Given the description of an element on the screen output the (x, y) to click on. 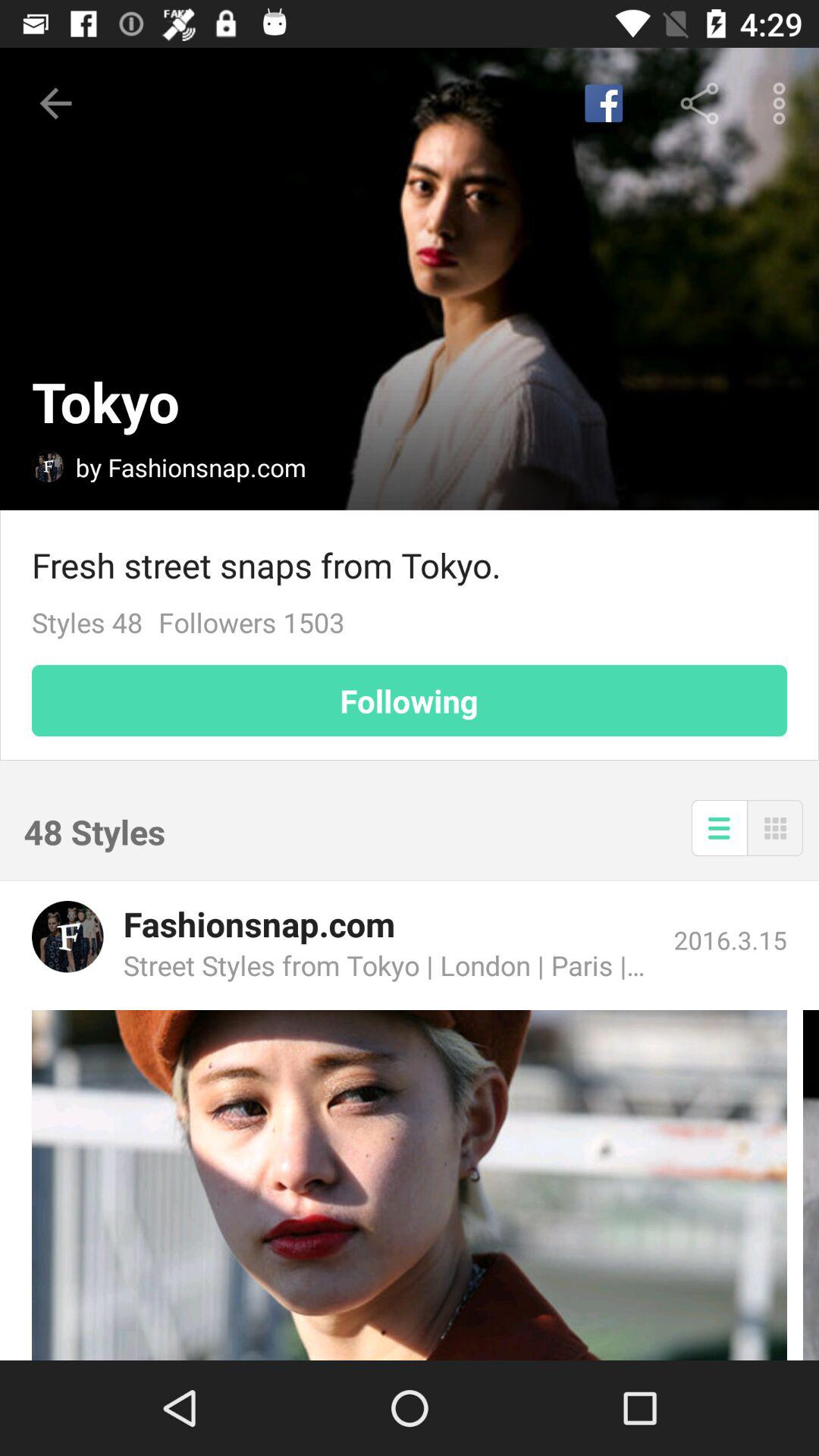
open the item below following item (775, 827)
